Given the description of an element on the screen output the (x, y) to click on. 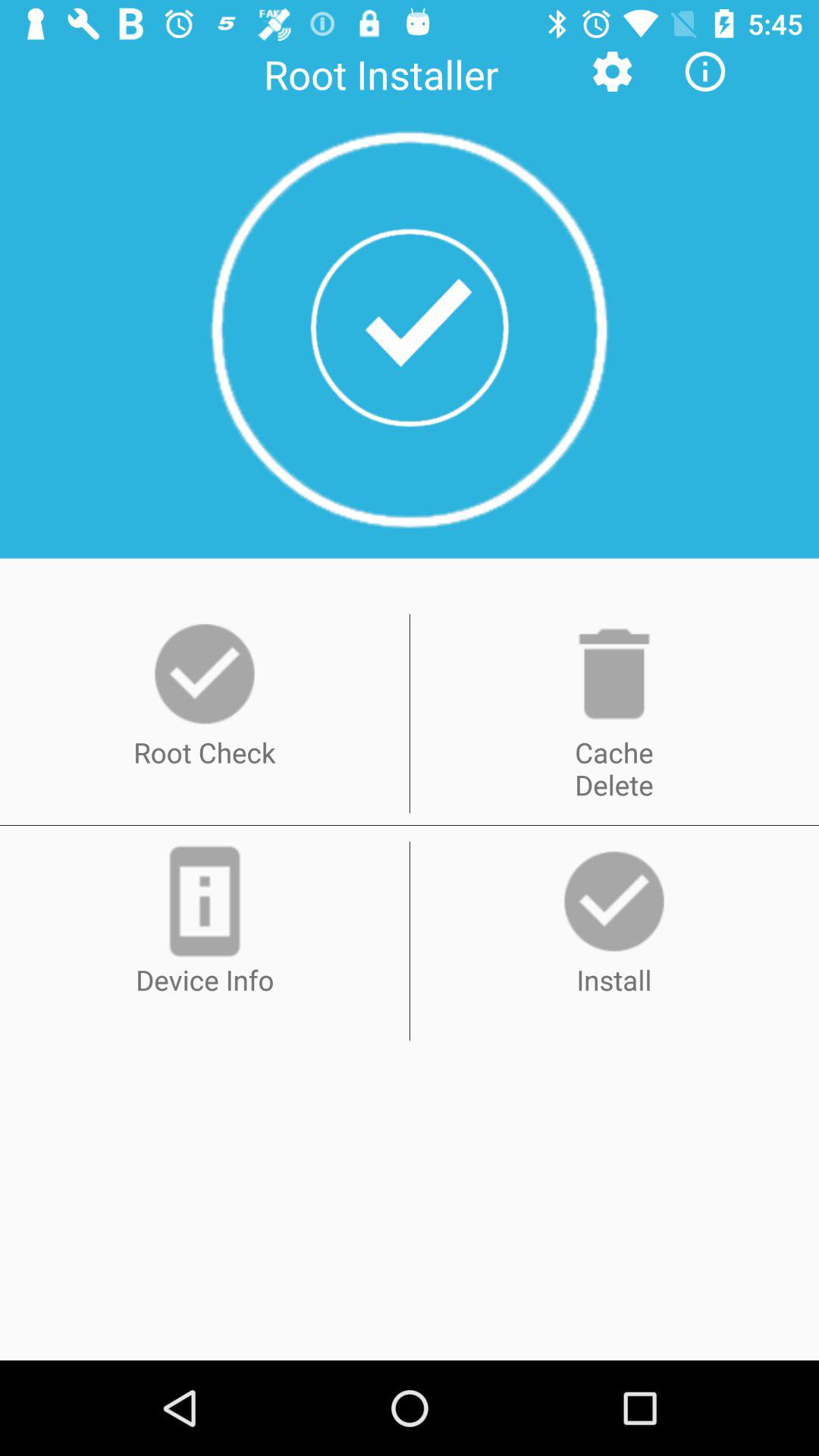
turn on icon below the root installer (409, 329)
